Given the description of an element on the screen output the (x, y) to click on. 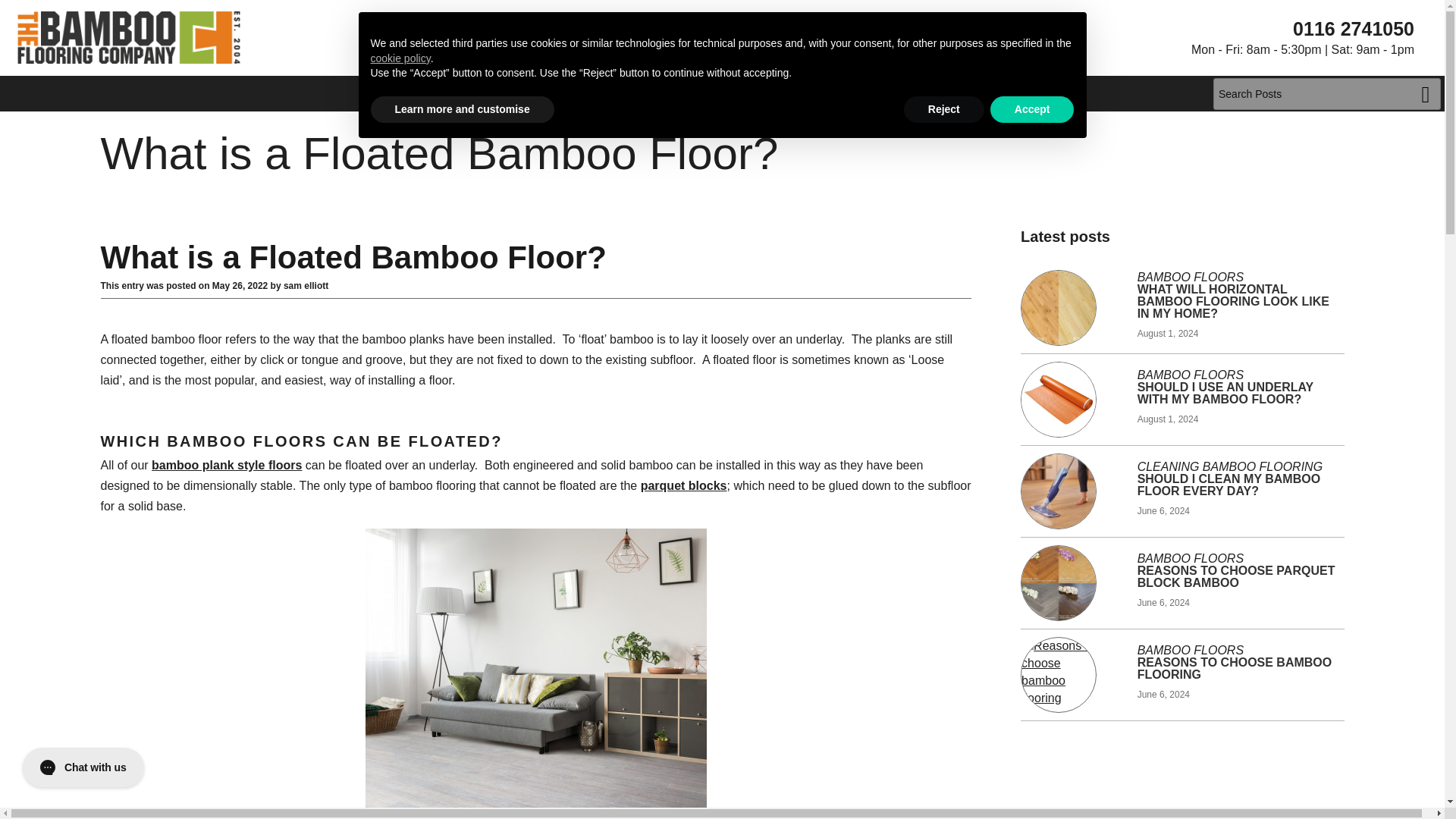
Categories (729, 93)
Shop (820, 93)
Home (635, 93)
The Bamboo Flooring Company (128, 37)
Search (1425, 93)
parquet blocks (683, 485)
bamboo plank style floors (226, 464)
